Given the description of an element on the screen output the (x, y) to click on. 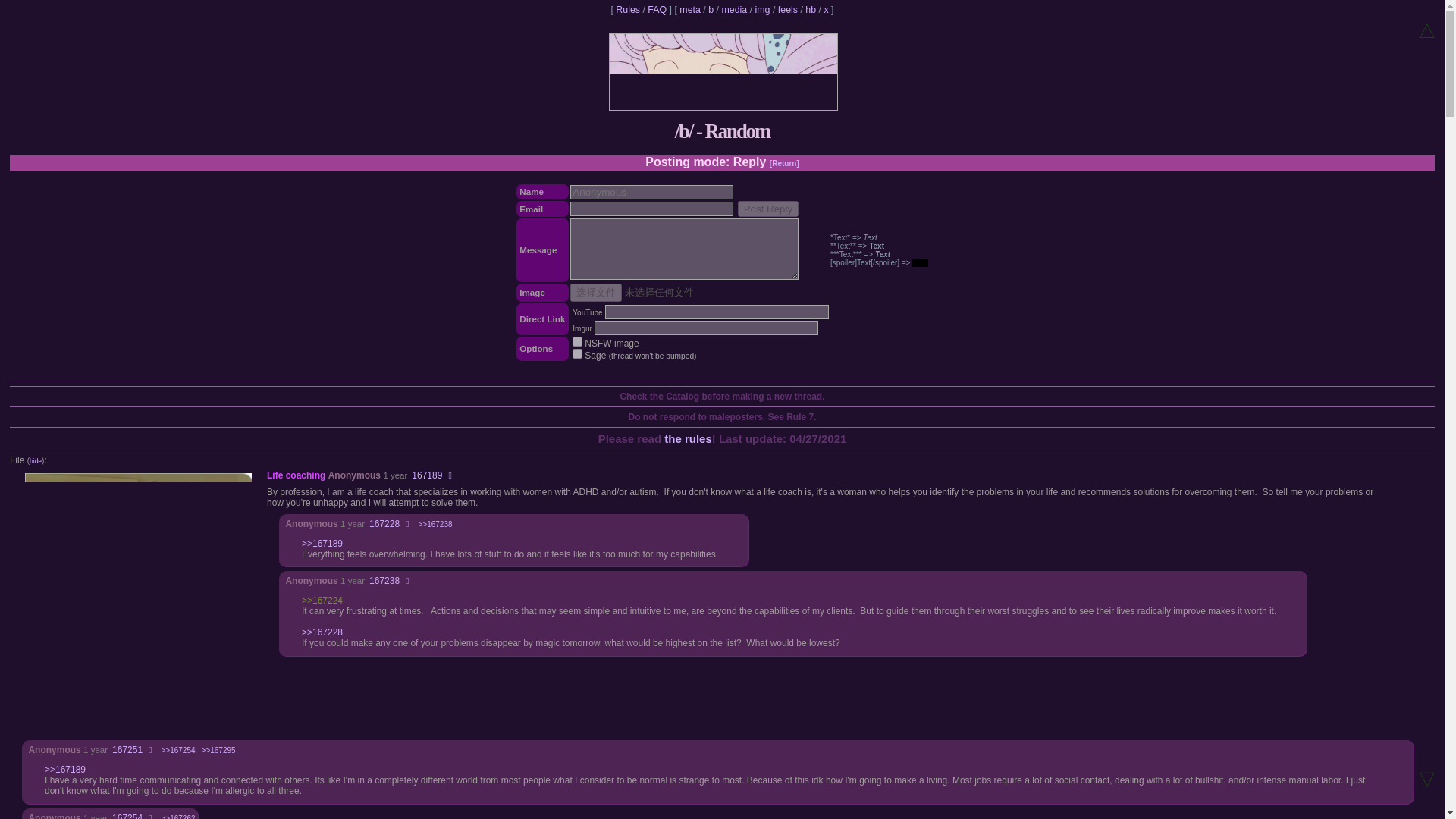
167189 (427, 475)
feels (787, 9)
FAQ (656, 9)
meta (689, 9)
Post Reply (767, 208)
img (762, 9)
167251 (127, 749)
on (577, 353)
167254 (127, 816)
Only use this field with good reason (651, 192)
hide (35, 461)
Only use this field if you wish to be contacted (651, 208)
1 year (352, 580)
167238 (383, 580)
1 year (394, 474)
